Given the description of an element on the screen output the (x, y) to click on. 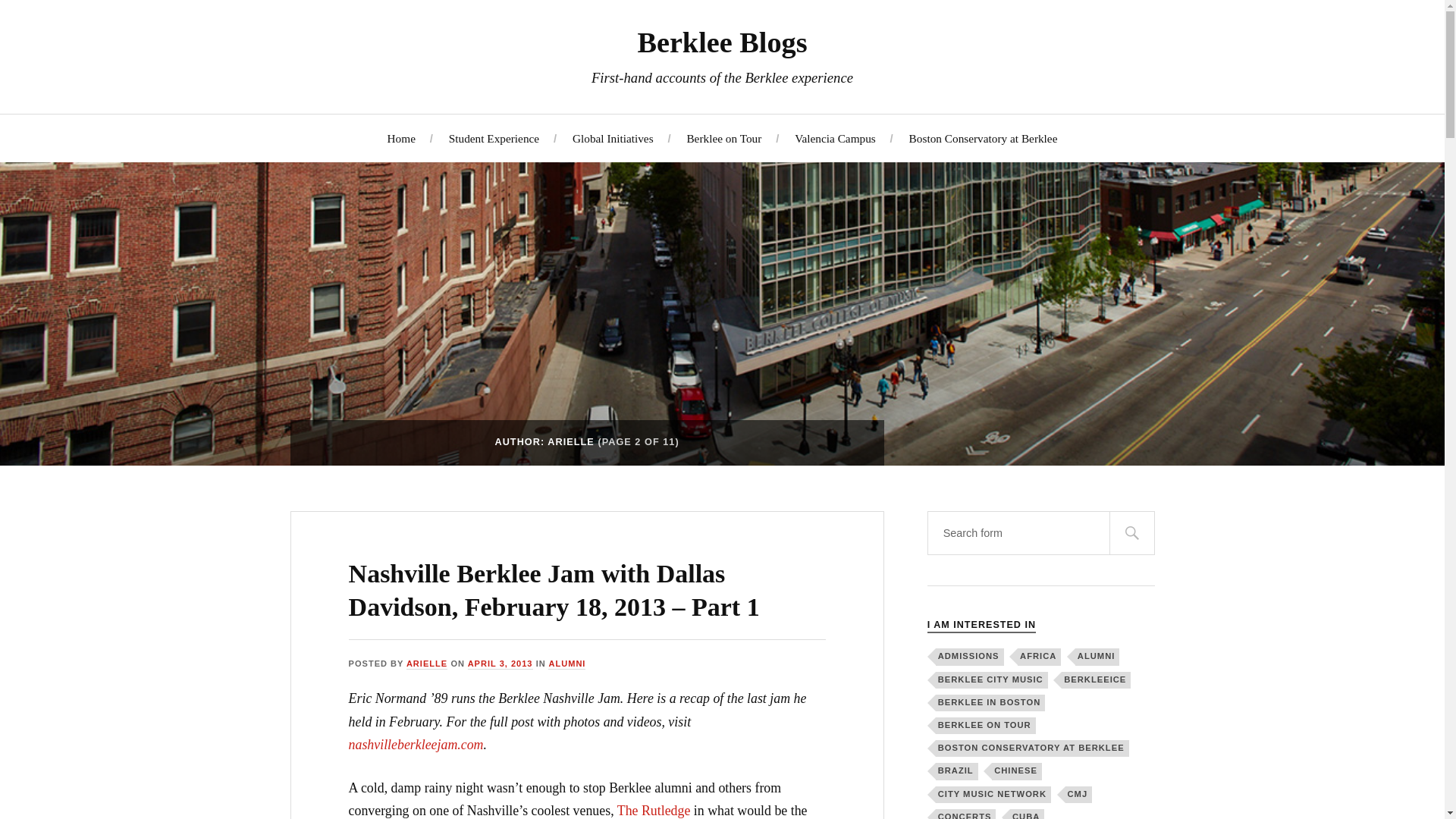
Boston Conservatory at Berklee (983, 137)
Berklee Blogs (721, 42)
APRIL 3, 2013 (499, 664)
Berklee on Tour (723, 137)
Student Experience (493, 137)
ARIELLE (426, 664)
The Rutledge (653, 810)
Valencia Campus (835, 137)
nashvilleberkleejam.com (416, 744)
Posts by Arielle (426, 664)
